Given the description of an element on the screen output the (x, y) to click on. 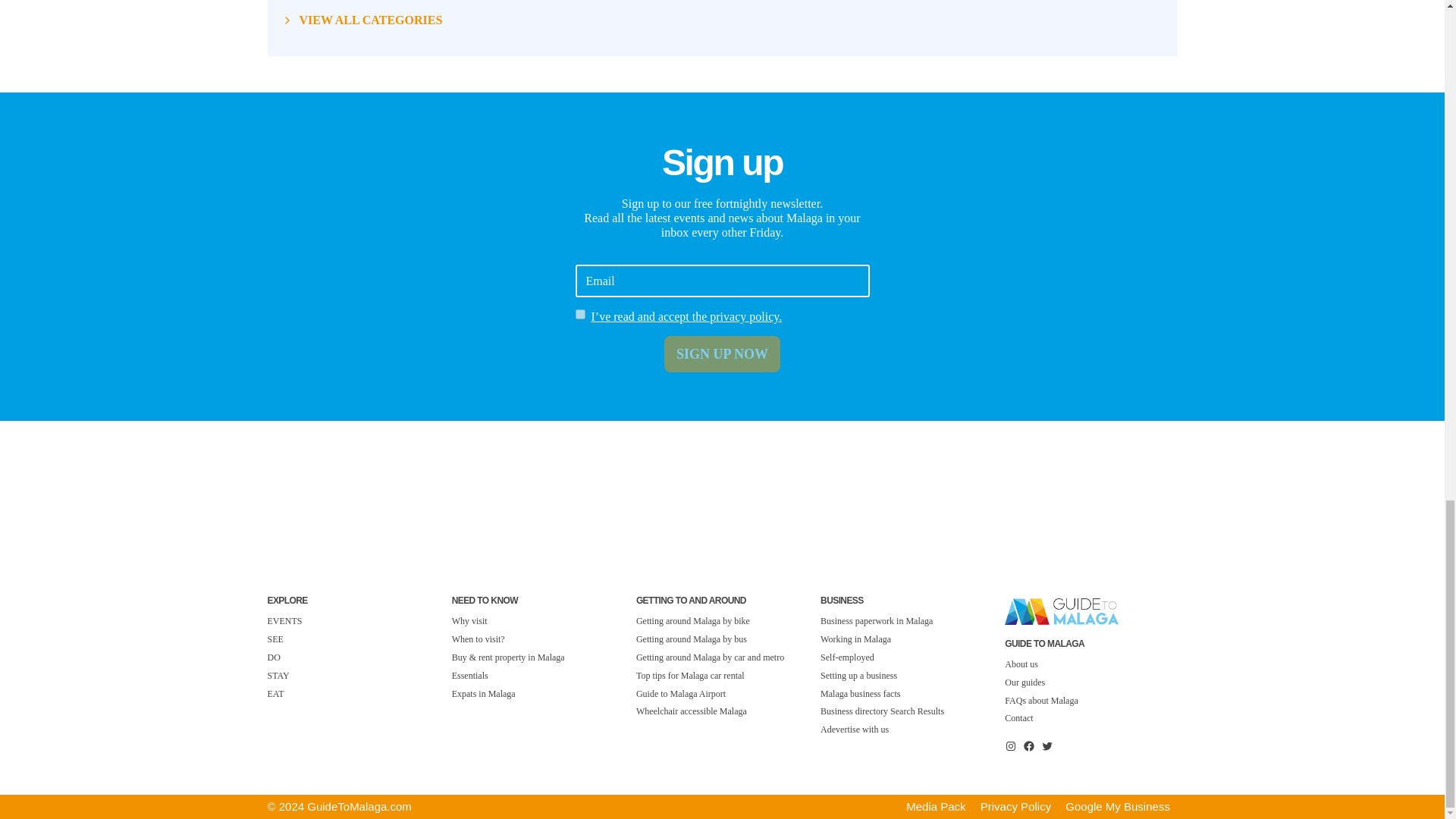
accept (580, 314)
